Given the description of an element on the screen output the (x, y) to click on. 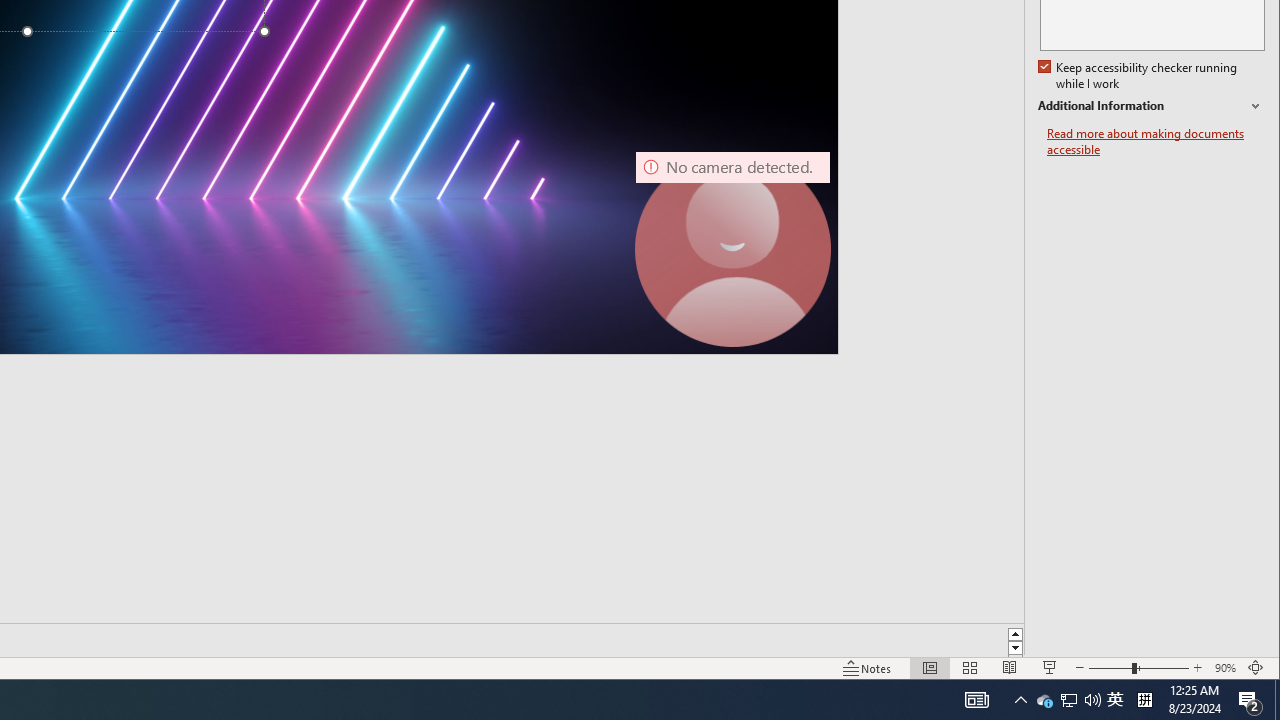
Camera 7, No camera detected. (732, 249)
Zoom 90% (1225, 668)
